Given the description of an element on the screen output the (x, y) to click on. 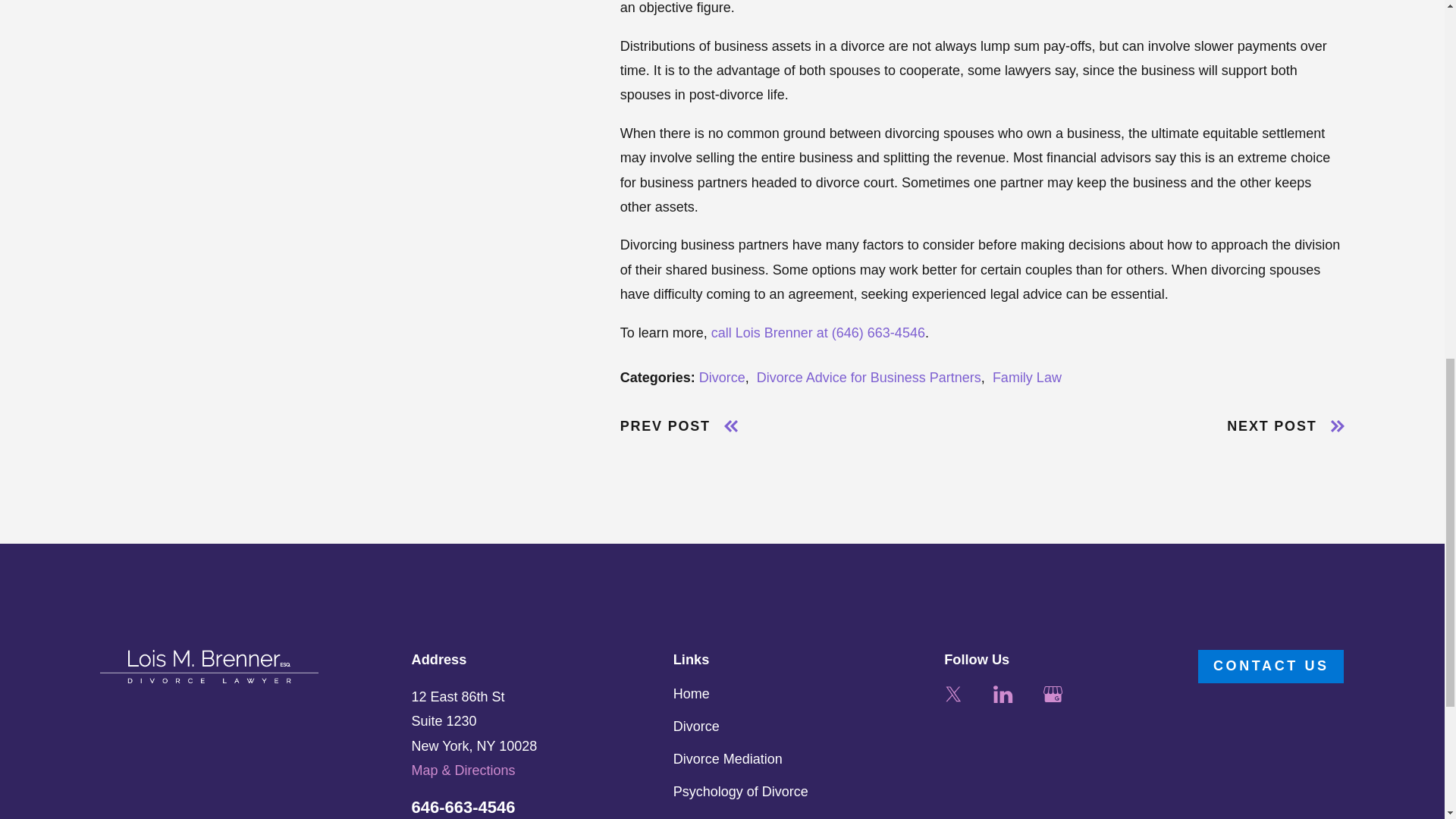
LinkedIn (1001, 693)
Home (209, 666)
Google Business Profile (1052, 693)
Twitter (952, 693)
